Given the description of an element on the screen output the (x, y) to click on. 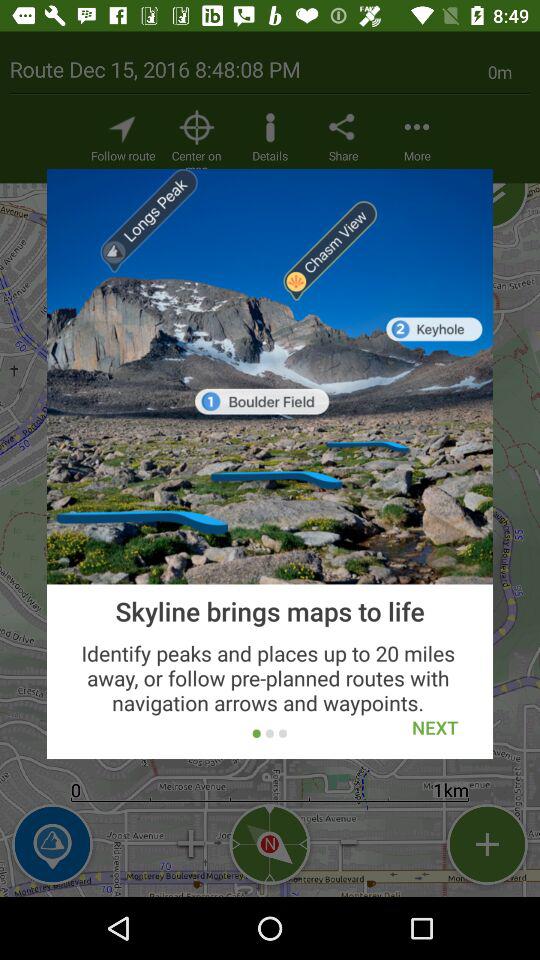
scroll to next item (435, 727)
